Given the description of an element on the screen output the (x, y) to click on. 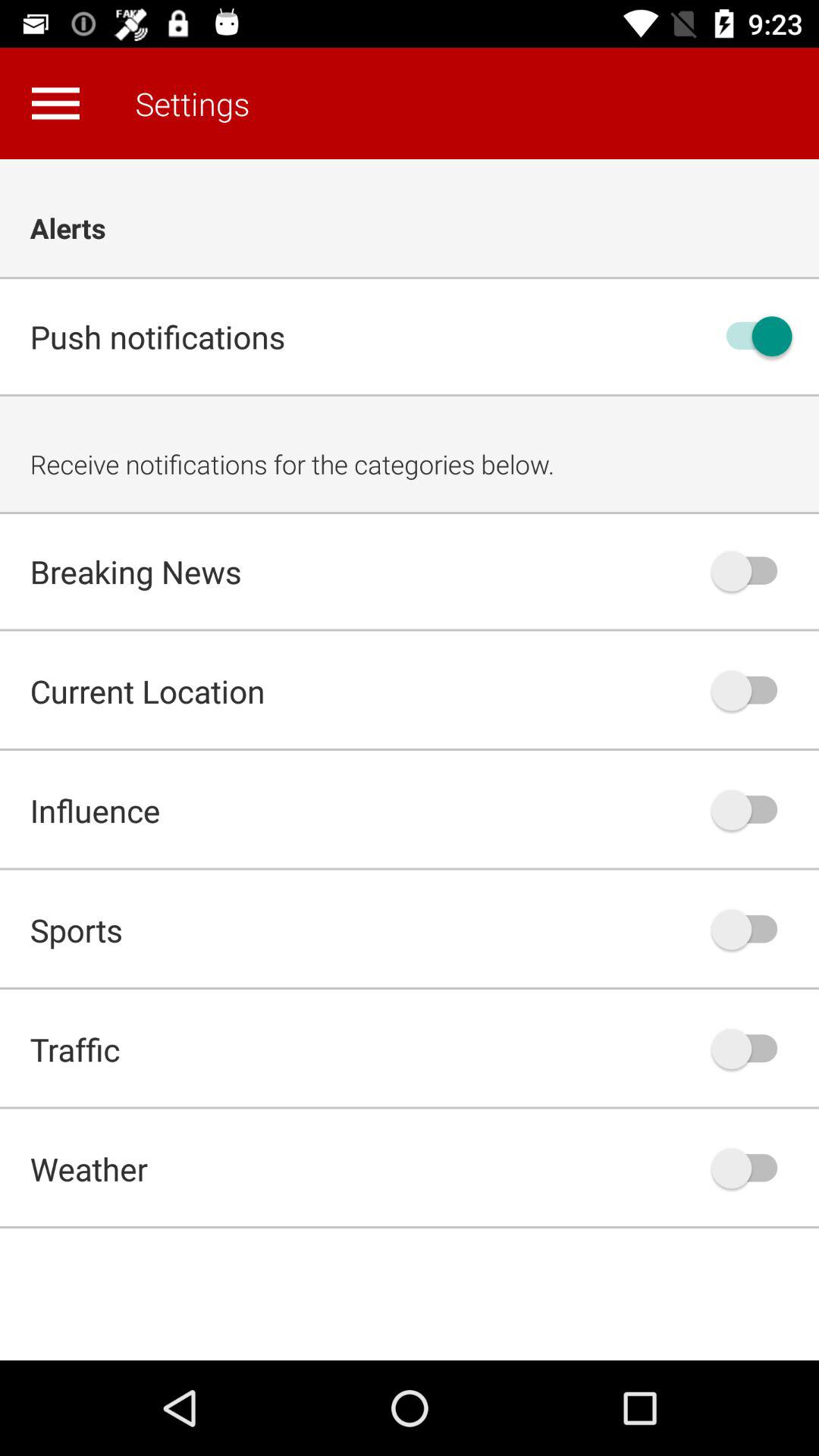
toggle breaking news notifications (751, 571)
